Given the description of an element on the screen output the (x, y) to click on. 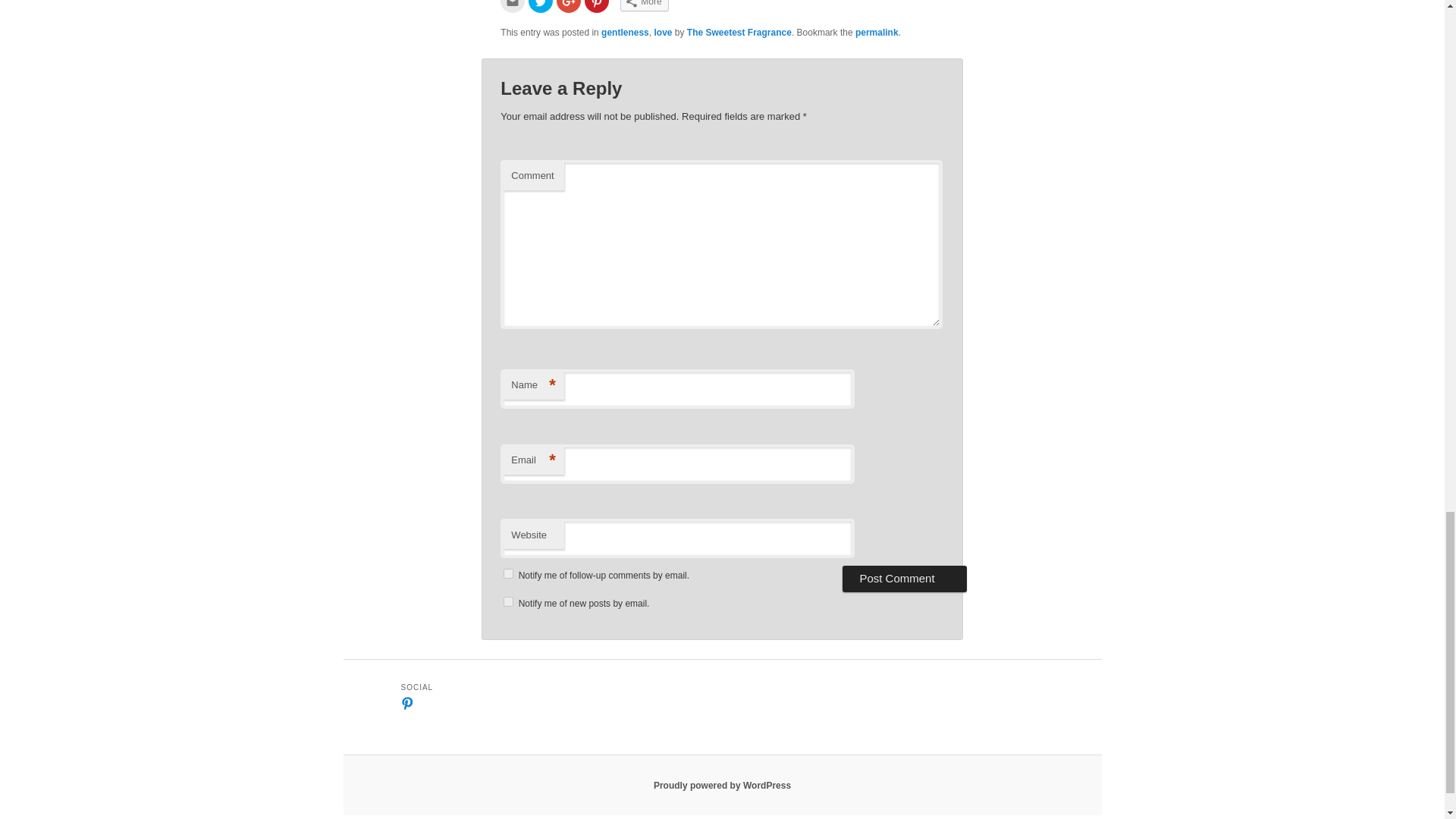
The Sweetest Fragrance (739, 32)
Semantic Personal Publishing Platform (721, 785)
subscribe (508, 601)
Proudly powered by WordPress (721, 785)
subscribe (508, 573)
Click to share on Twitter (540, 6)
Permalink to Radiate Sunshine.. (877, 32)
Click to share on Pinterest (596, 6)
Click to email this to a friend (512, 6)
Post Comment (904, 578)
More (644, 5)
Post Comment (904, 578)
gentleness (625, 32)
permalink (877, 32)
love (662, 32)
